Given the description of an element on the screen output the (x, y) to click on. 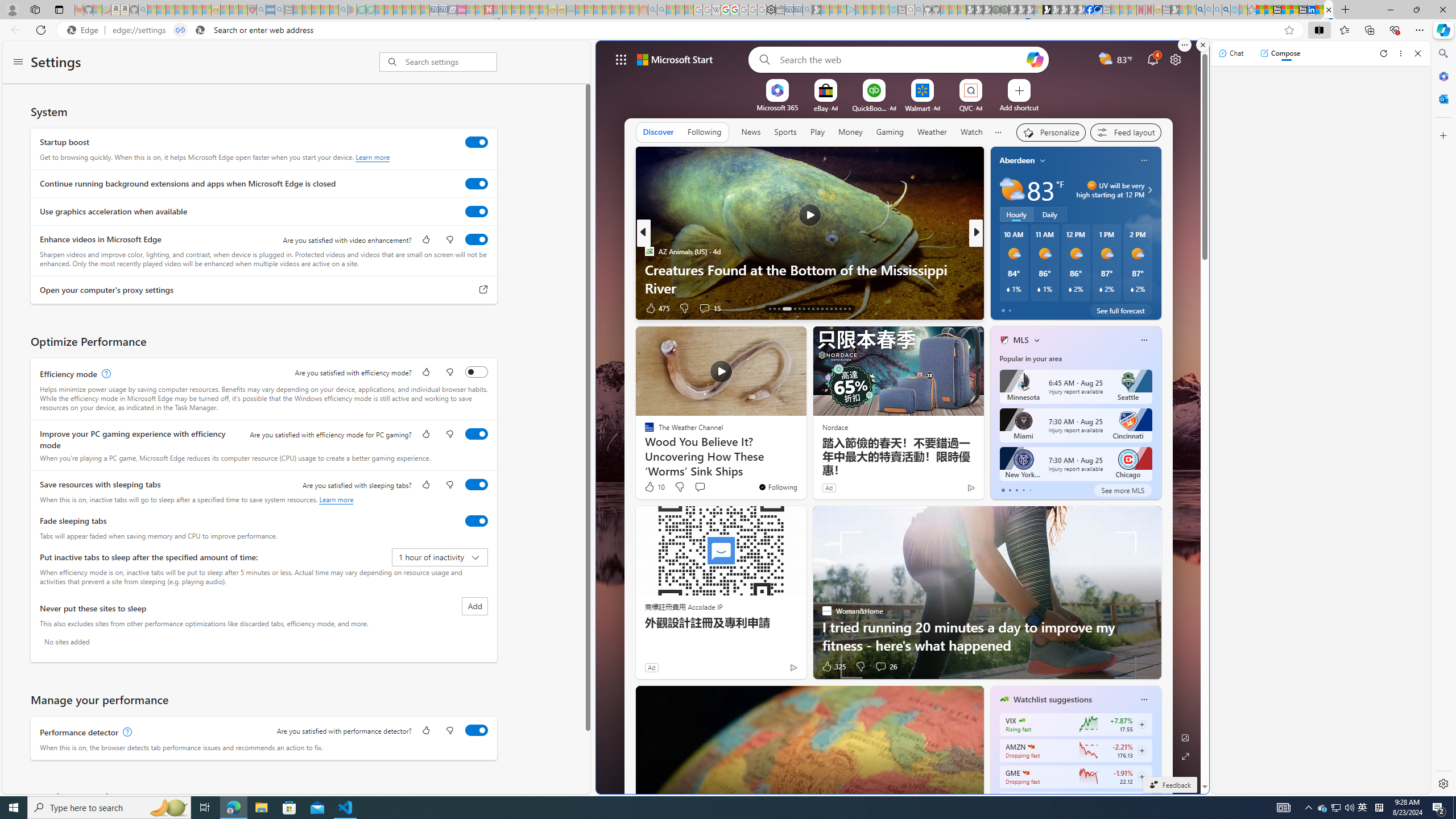
More interests (1036, 340)
AutomationID: tab-15 (778, 308)
Daily (1049, 214)
GAMESTOP CORP. (1025, 772)
Bluey: Let's Play! - Apps on Google Play - Sleeping (352, 9)
199 Like (1007, 307)
